Given the description of an element on the screen output the (x, y) to click on. 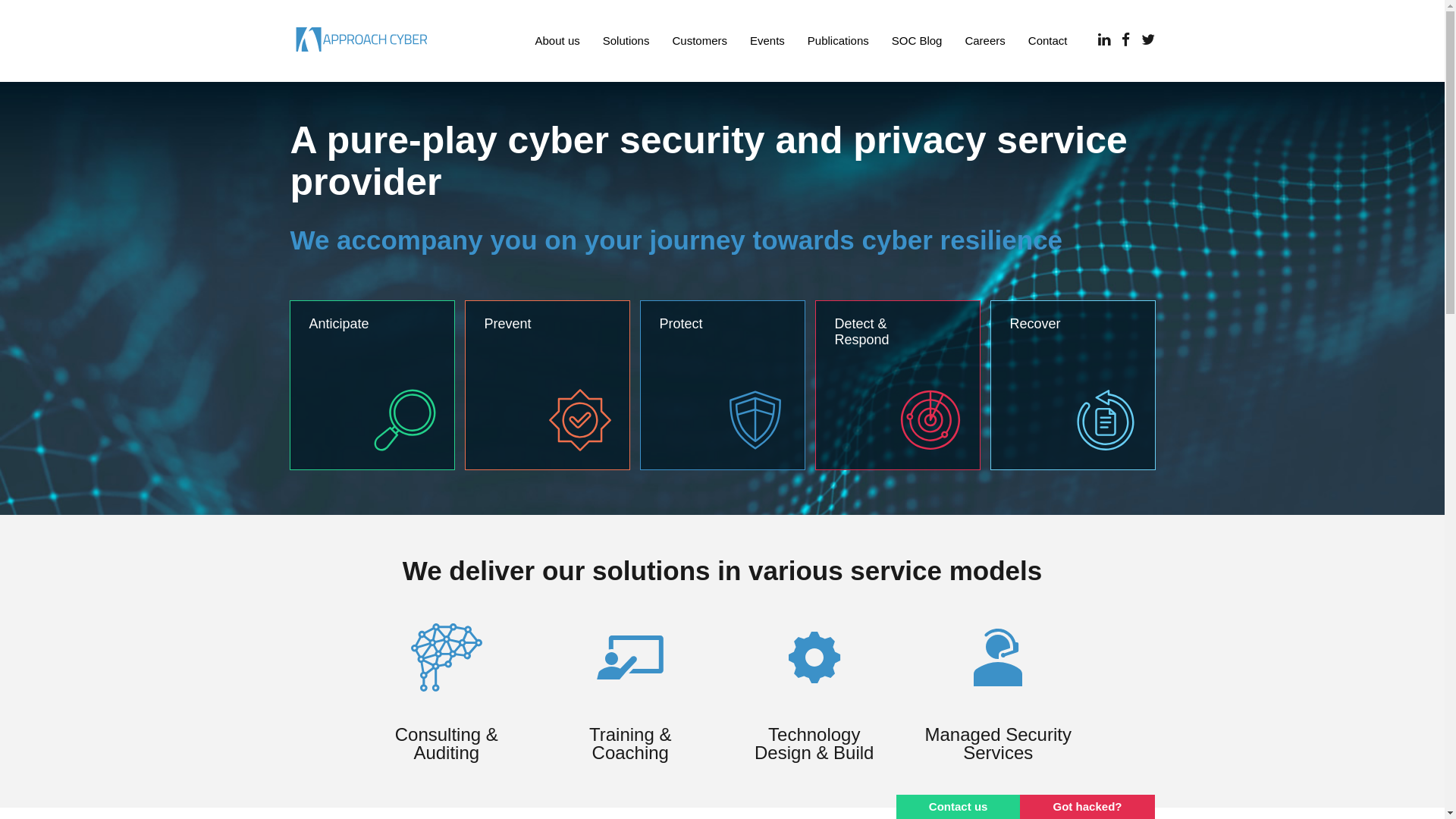
Events Element type: text (766, 40)
Skip to main content Element type: text (59, 81)
Publications Element type: text (838, 40)
Contact Element type: text (1047, 40)
Customers Element type: text (699, 40)
SOC Blog Element type: text (916, 40)
